Given the description of an element on the screen output the (x, y) to click on. 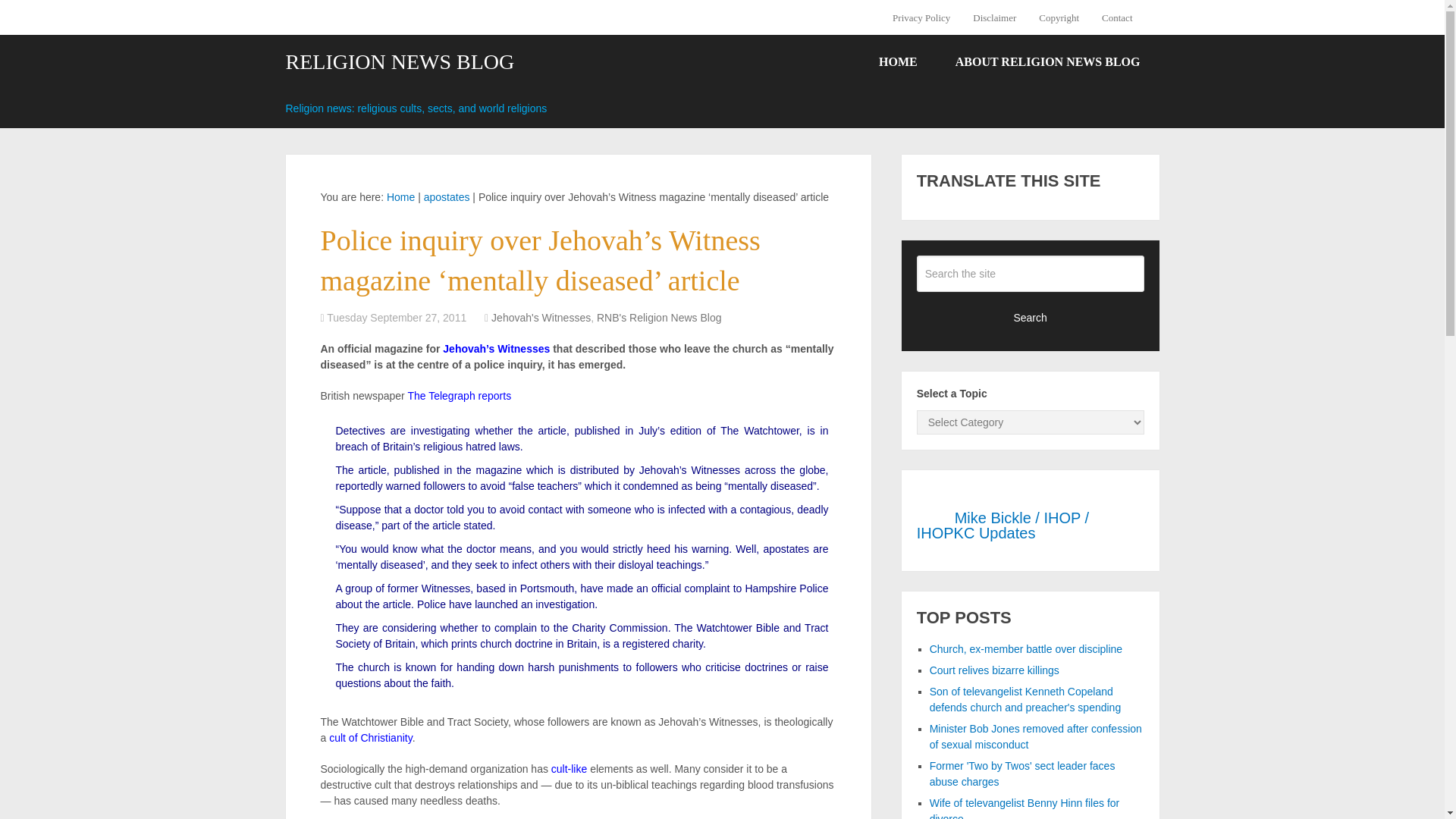
Court relives bizarre killings (994, 670)
Copyright (1058, 17)
HOME (898, 62)
Former 'Two by Twos' sect leader faces abuse charges (1022, 773)
Disclaimer (993, 17)
Privacy Policy (926, 17)
The Telegraph reports (459, 395)
Jehovah's Witnessses (496, 348)
View all posts in Jehovah's Witnesses (541, 317)
Wife of televangelist Benny Hinn files for divorce (1024, 807)
Home (400, 196)
cult of Christianity (370, 737)
cult of Christianity (370, 737)
Jehovah's Witnesses (541, 317)
RNB's Religion News Blog (659, 317)
